Given the description of an element on the screen output the (x, y) to click on. 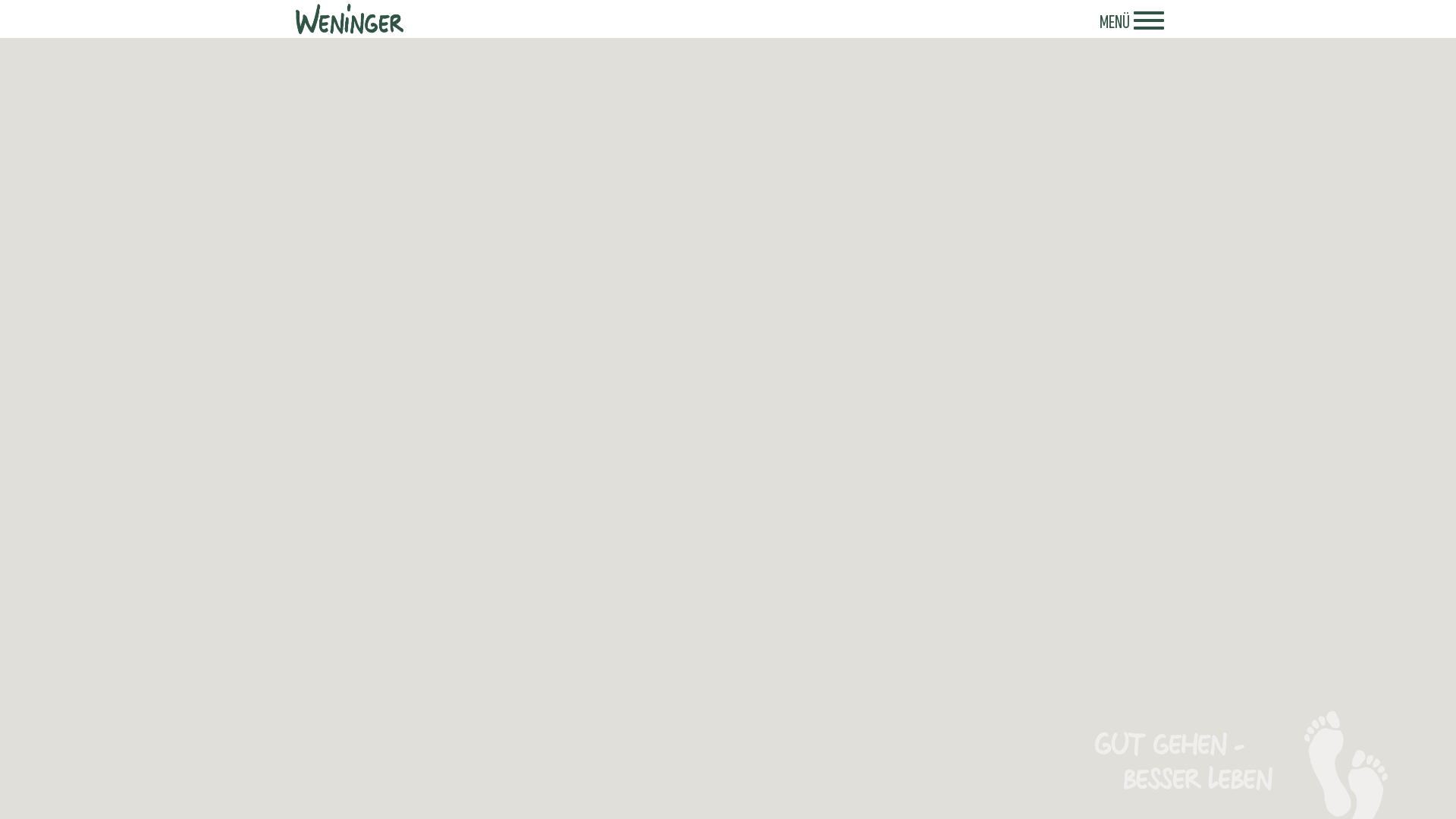
Weninger - Logo Element type: hover (349, 18)
Weninger Element type: hover (349, 15)
